Given the description of an element on the screen output the (x, y) to click on. 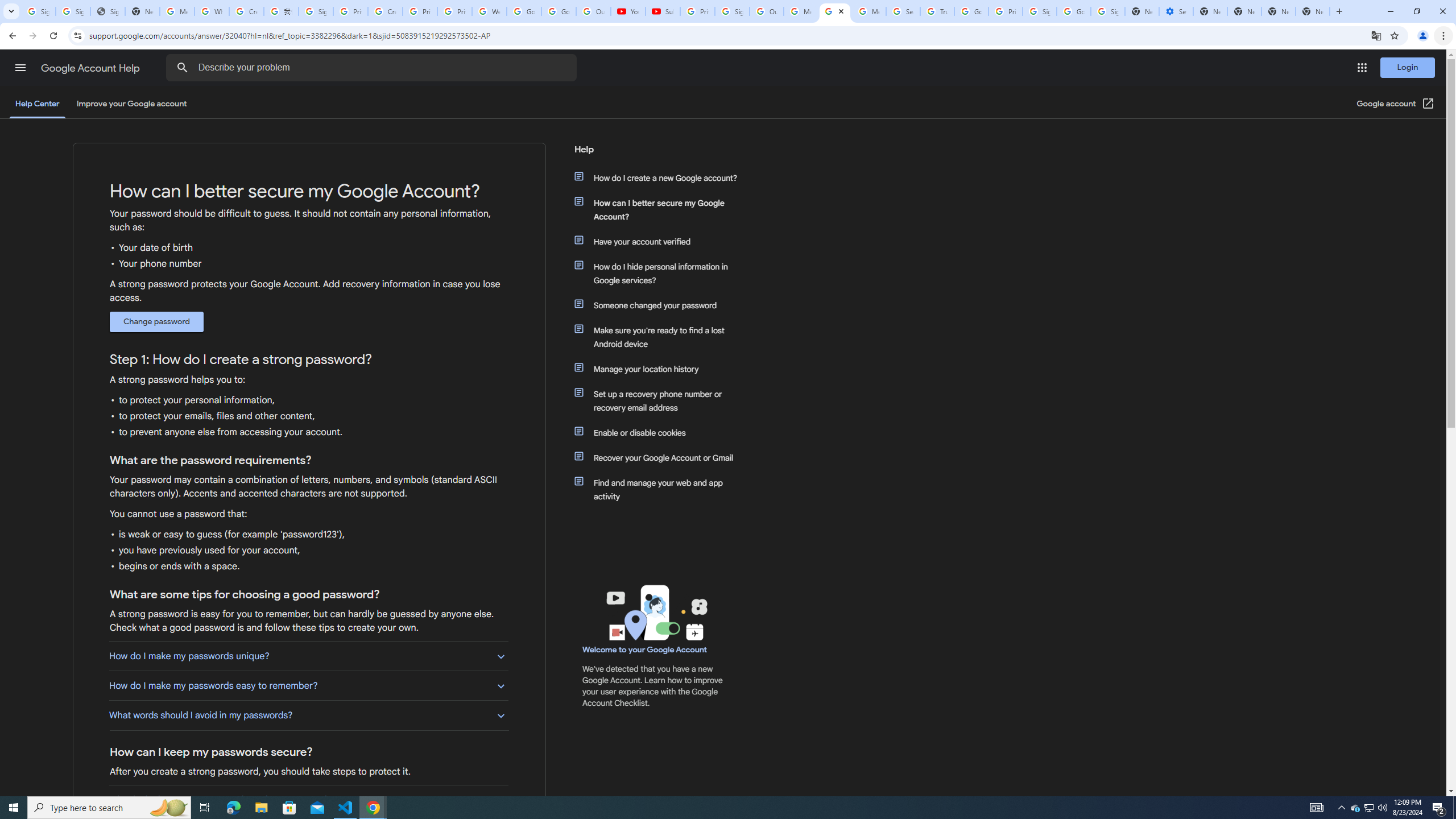
New Tab (1312, 11)
Learning Center home page image (655, 612)
Who is my administrator? - Google Account Help (211, 11)
Translate this page (1376, 35)
How do I make my passwords unique? (308, 655)
Welcome to My Activity (489, 11)
Manage your location history (661, 368)
How do I create a new Google account? (661, 177)
